Given the description of an element on the screen output the (x, y) to click on. 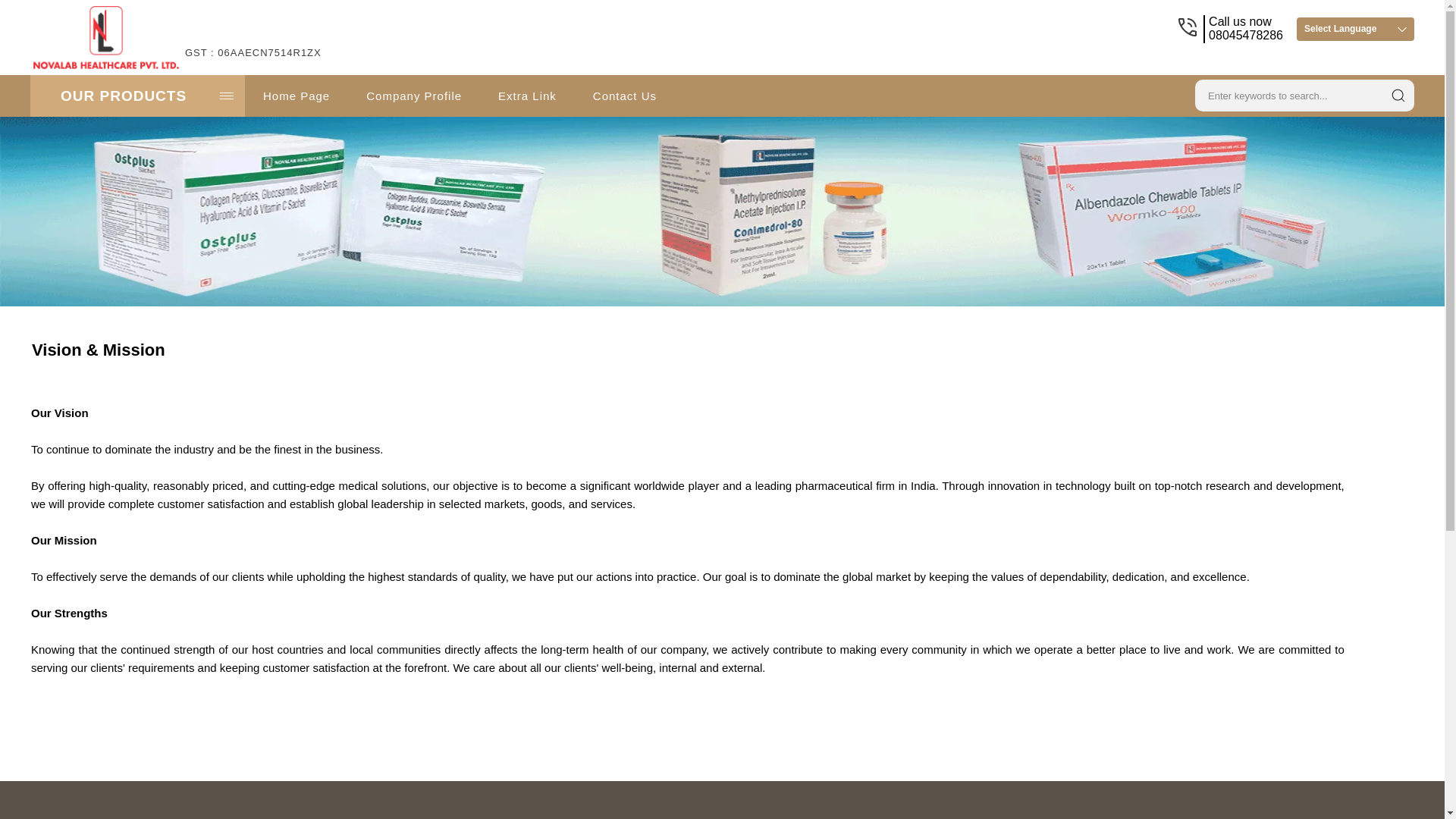
submit (1398, 95)
Enter keywords to search... (1286, 93)
OUR PRODUCTS (137, 96)
GST : 06AAECN7514R1ZX (253, 61)
Select Language (1355, 28)
submit (1398, 95)
